Given the description of an element on the screen output the (x, y) to click on. 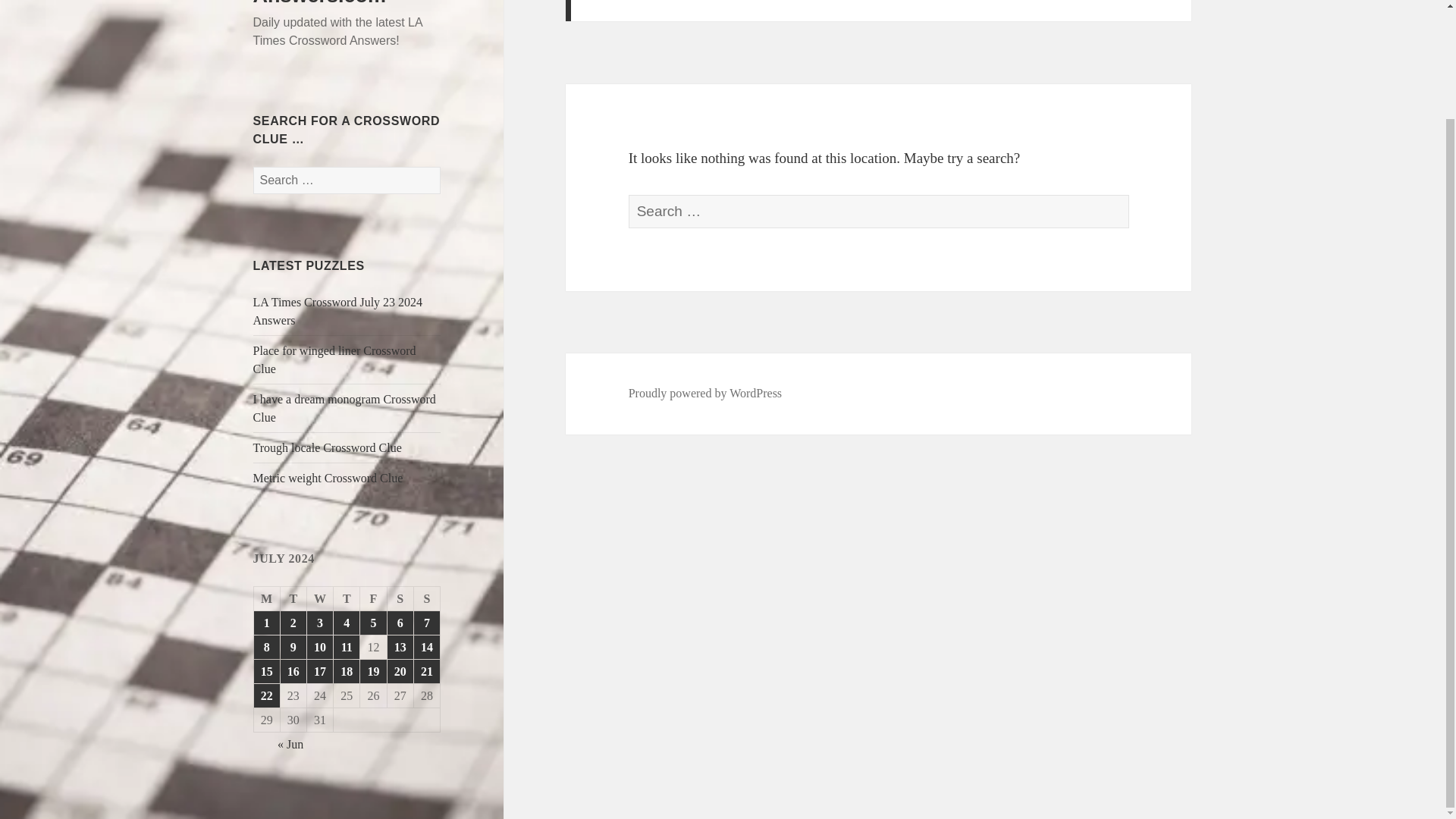
5 (372, 622)
17 (320, 671)
Metric weight Crossword Clue (328, 477)
13 (400, 647)
21 (426, 671)
15 (266, 671)
3 (320, 622)
Tuesday (294, 598)
2 (293, 622)
Trough locale Crossword Clue (327, 447)
Friday (373, 598)
18 (346, 671)
22 (266, 695)
